Given the description of an element on the screen output the (x, y) to click on. 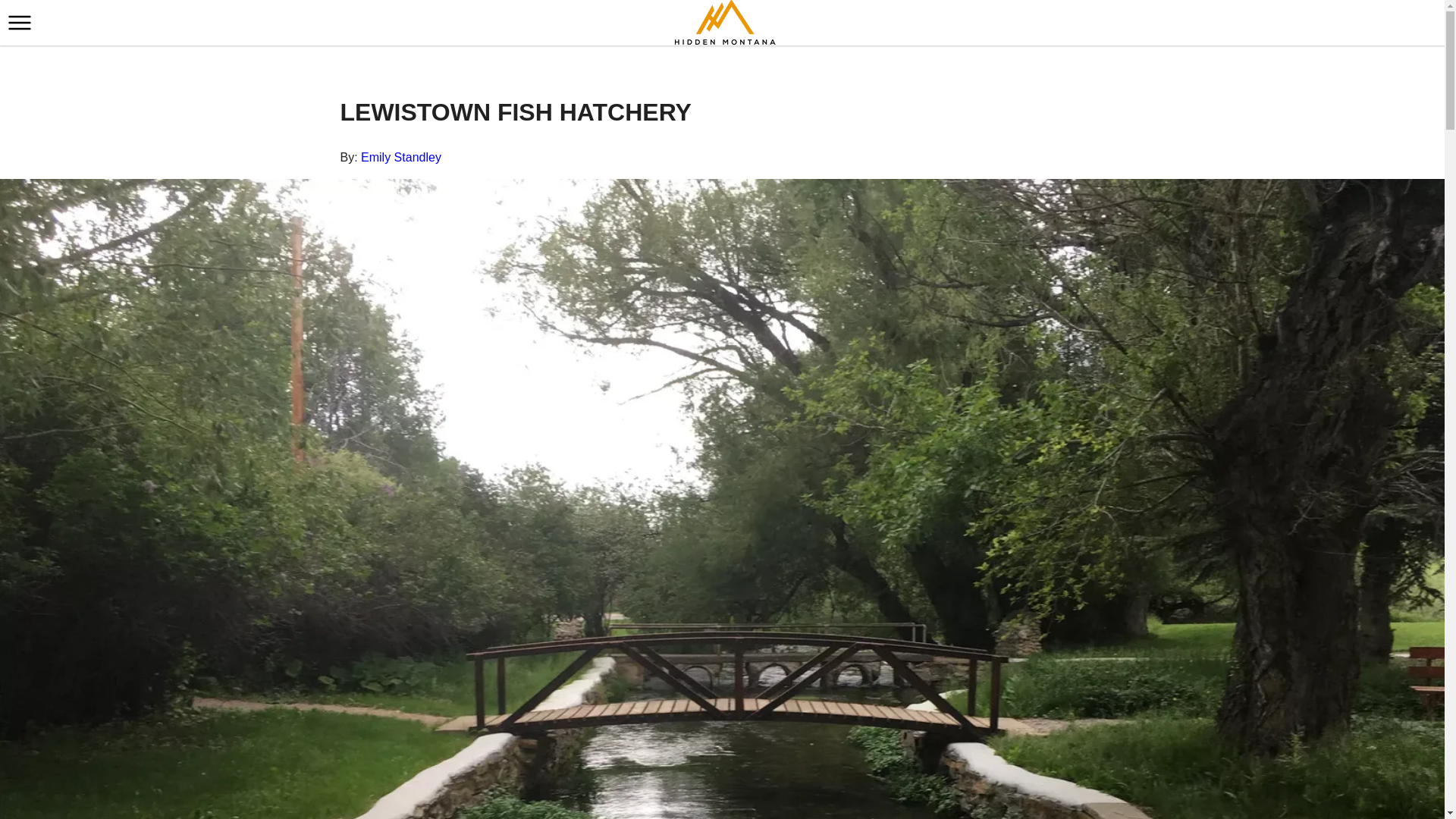
Emily Standley (401, 156)
